Given the description of an element on the screen output the (x, y) to click on. 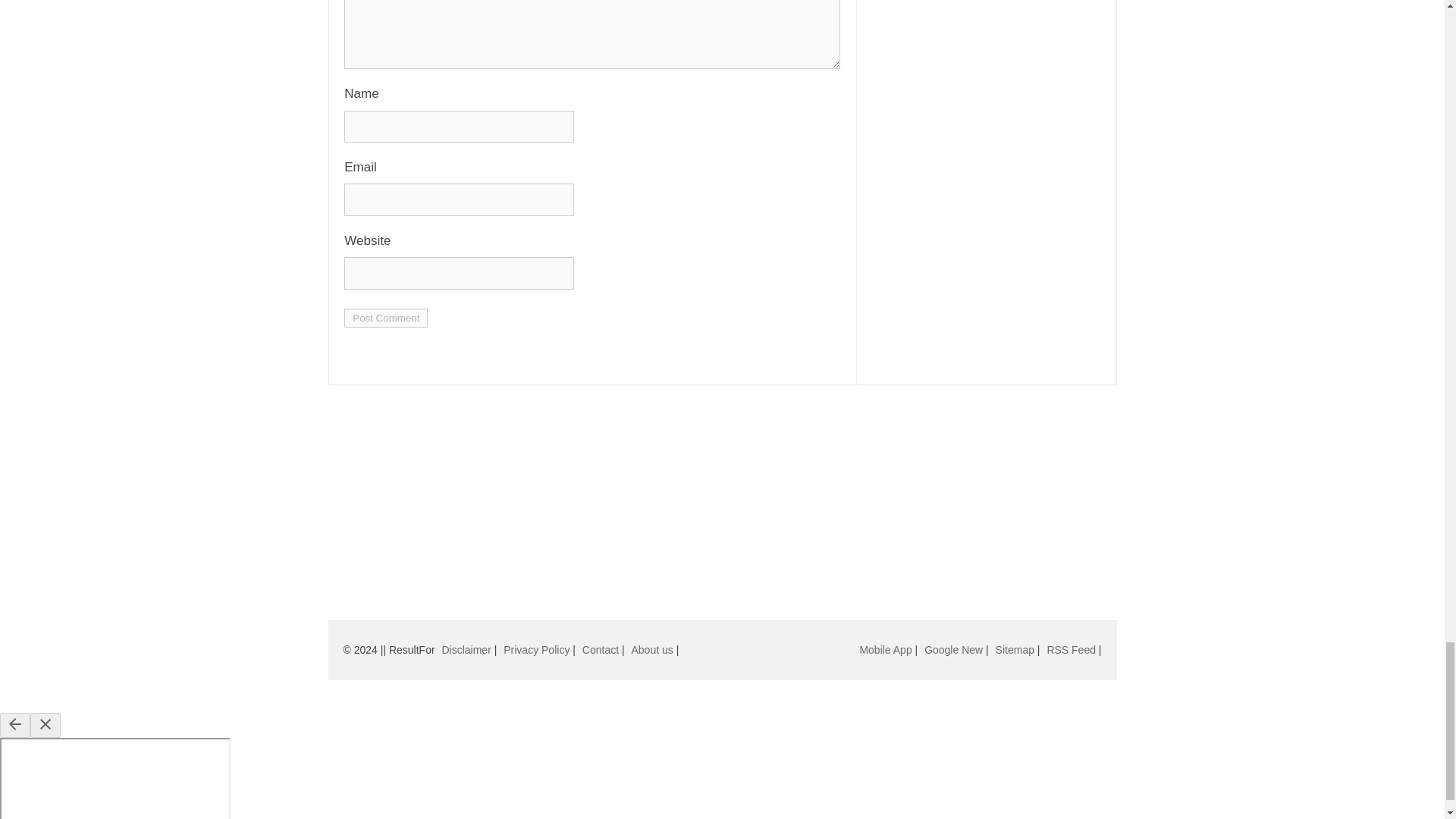
Post Comment (385, 317)
Post Comment (385, 317)
Privacy Policy (536, 649)
Disclaimer (465, 649)
